Given the description of an element on the screen output the (x, y) to click on. 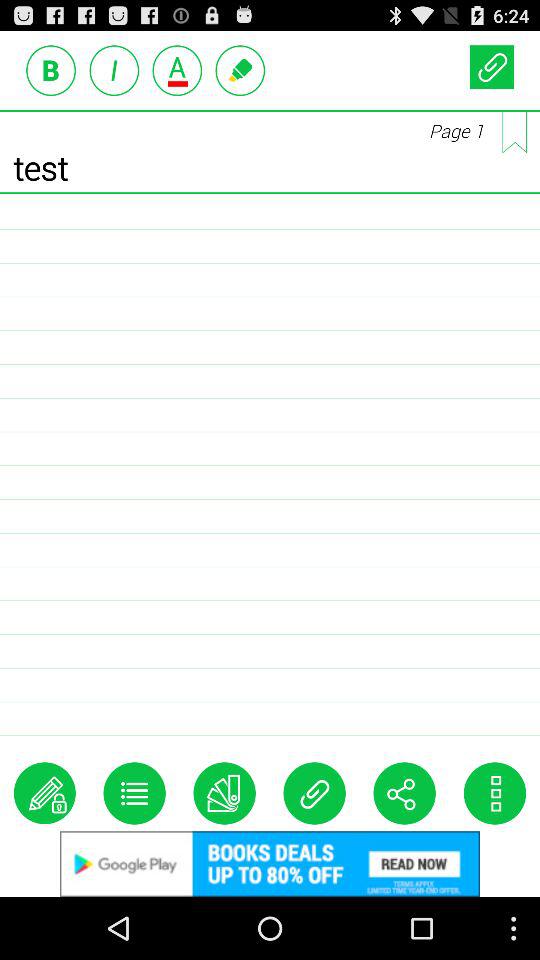
go to customize option (134, 793)
